Given the description of an element on the screen output the (x, y) to click on. 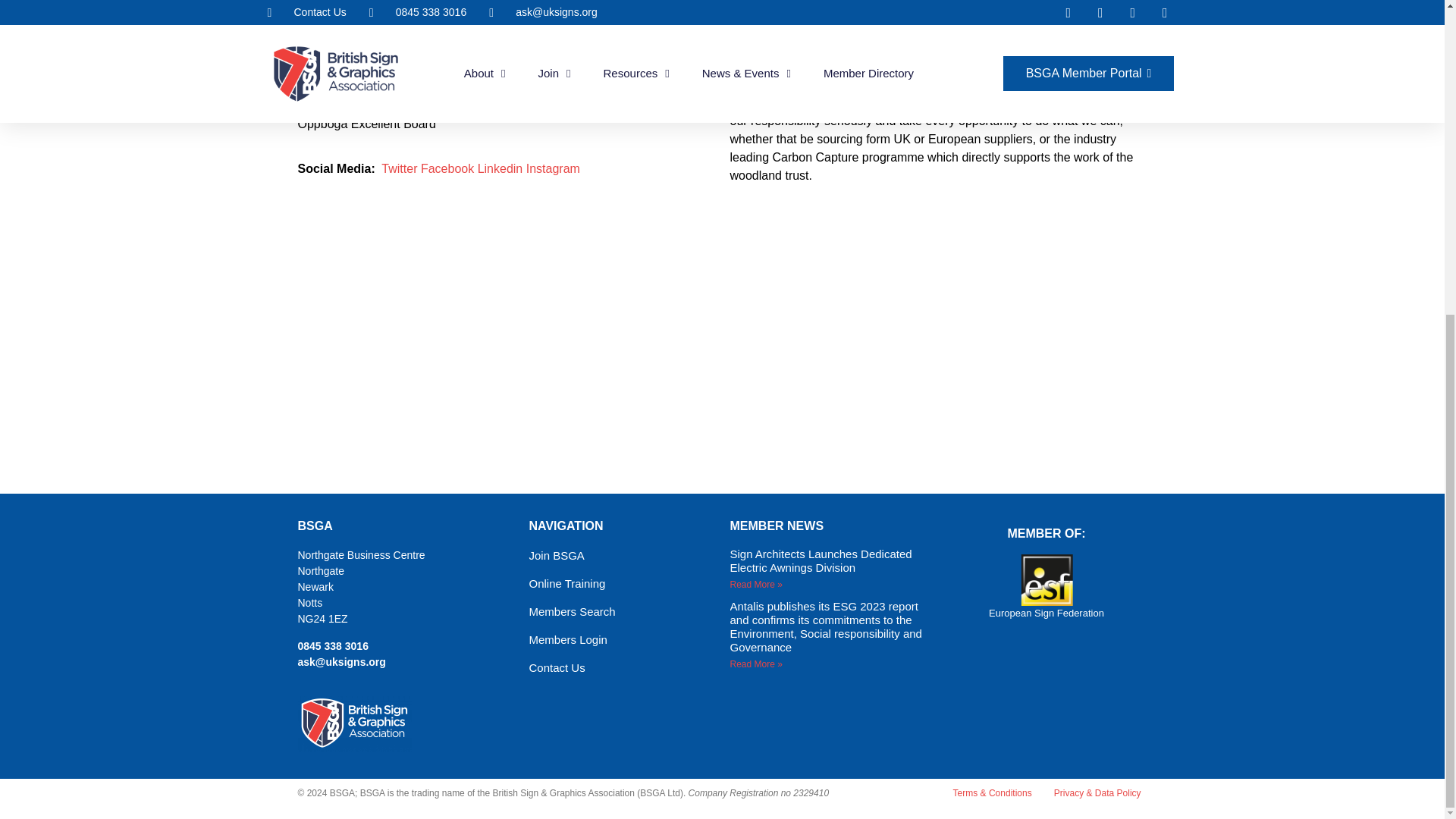
Minworth, Sutton Coldfield B76 9AE, UK (938, 352)
